Given the description of an element on the screen output the (x, y) to click on. 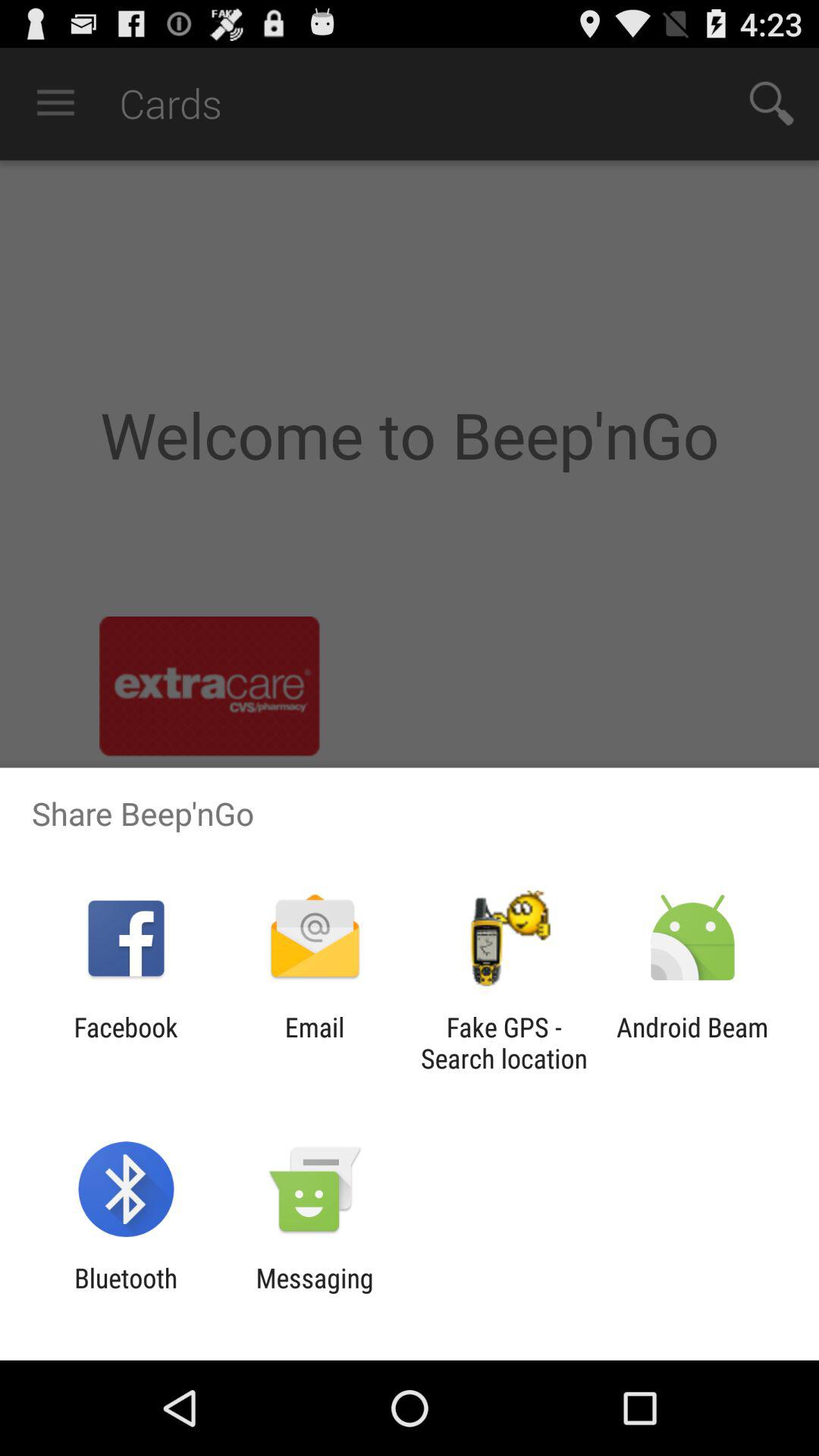
choose item next to the fake gps search app (692, 1042)
